Given the description of an element on the screen output the (x, y) to click on. 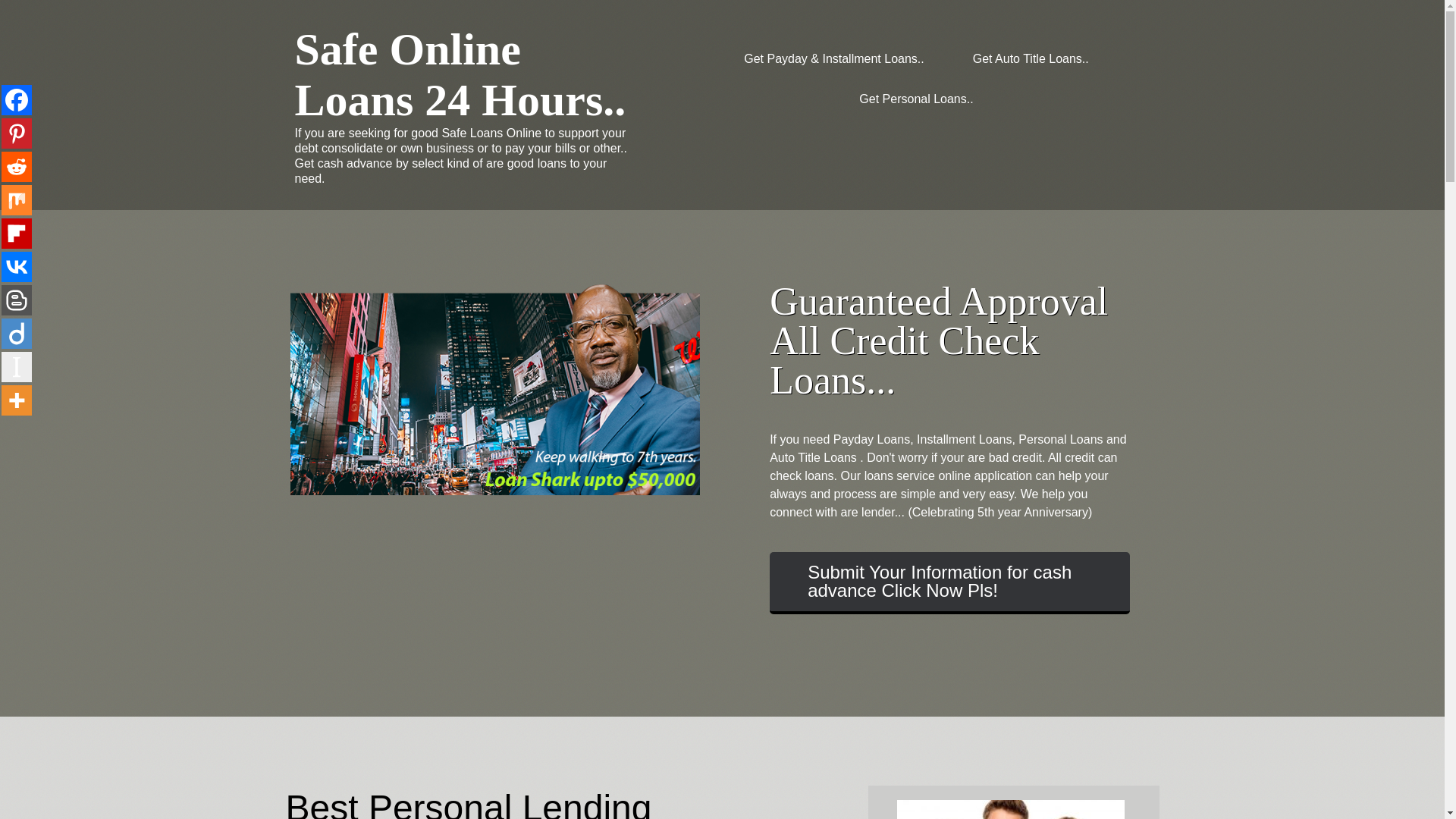
Submit Your Information for cash advance Click Now Pls! (949, 583)
Get Personal Loans.. (915, 98)
Safe Online Loans 24 Hours.. (460, 74)
Safe Online Loans 24 Hours.. (460, 74)
Get Auto Title Loans.. (1030, 58)
